Given the description of an element on the screen output the (x, y) to click on. 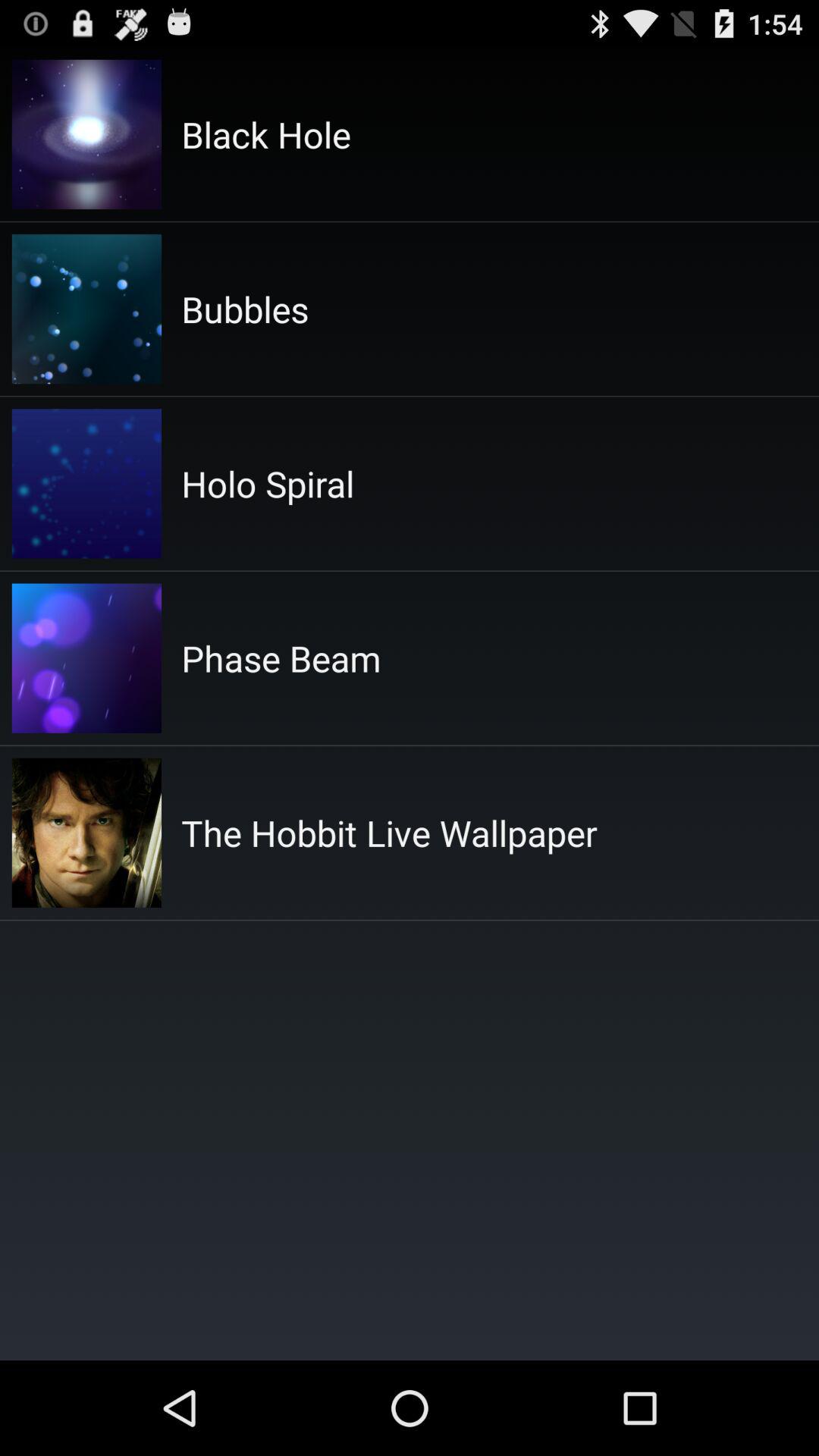
press the item above the bubbles (265, 134)
